Given the description of an element on the screen output the (x, y) to click on. 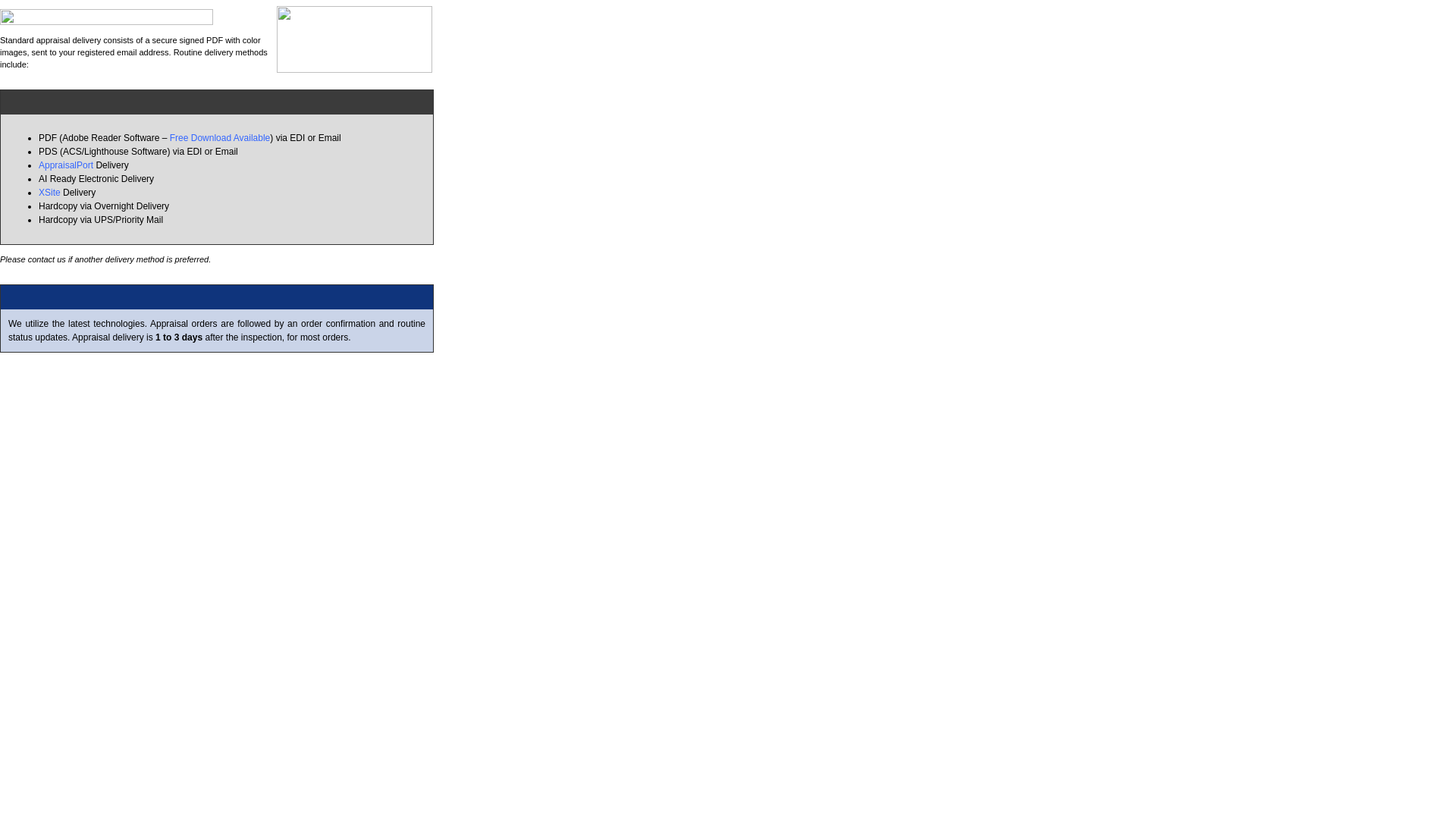
Free Download Available (220, 137)
AppraisalPort (66, 164)
XSite (50, 192)
